Given the description of an element on the screen output the (x, y) to click on. 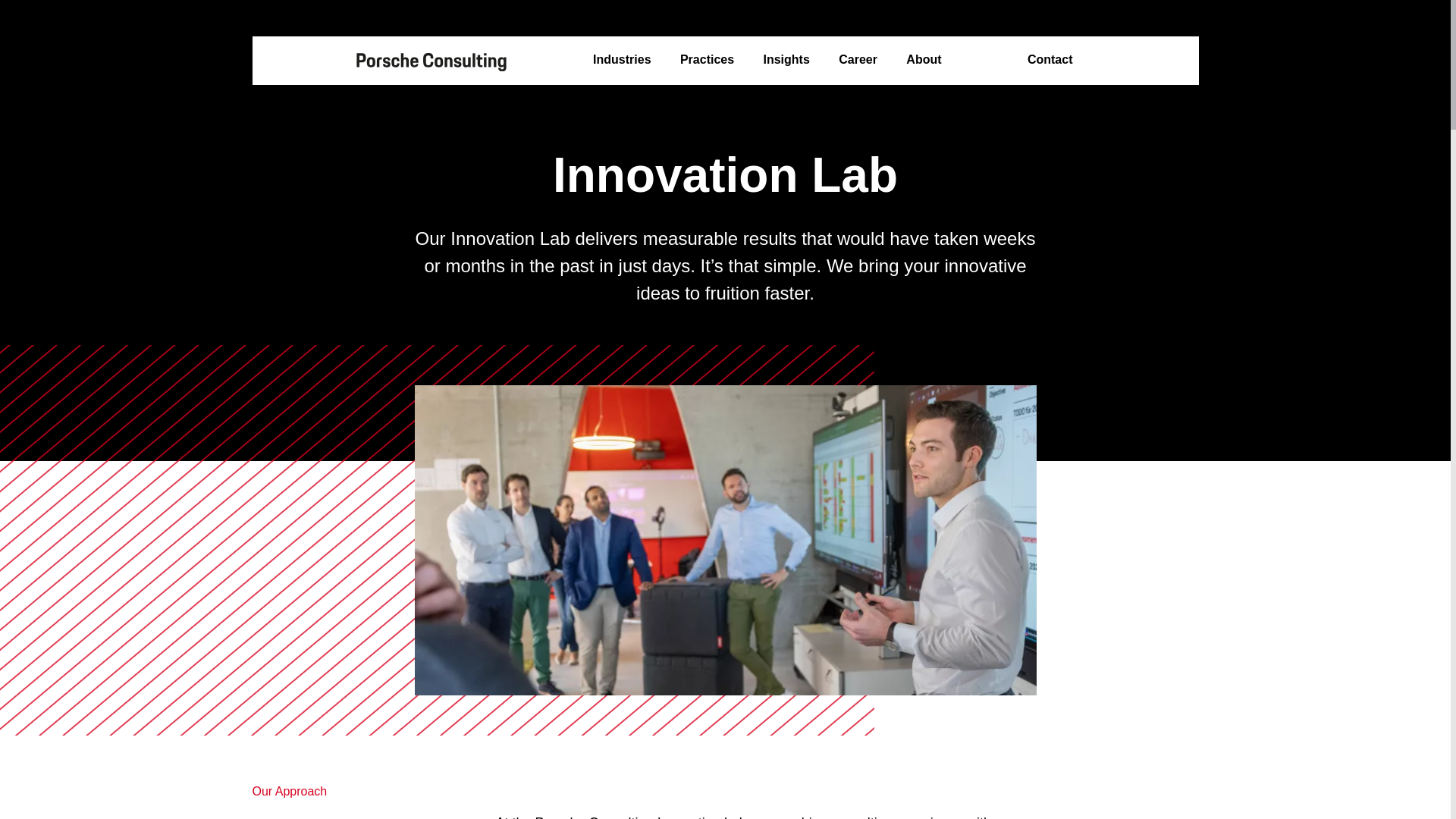
Industries (621, 60)
Insights (785, 60)
Career (857, 60)
Contact (1050, 60)
About (922, 60)
Practices (706, 60)
